Given the description of an element on the screen output the (x, y) to click on. 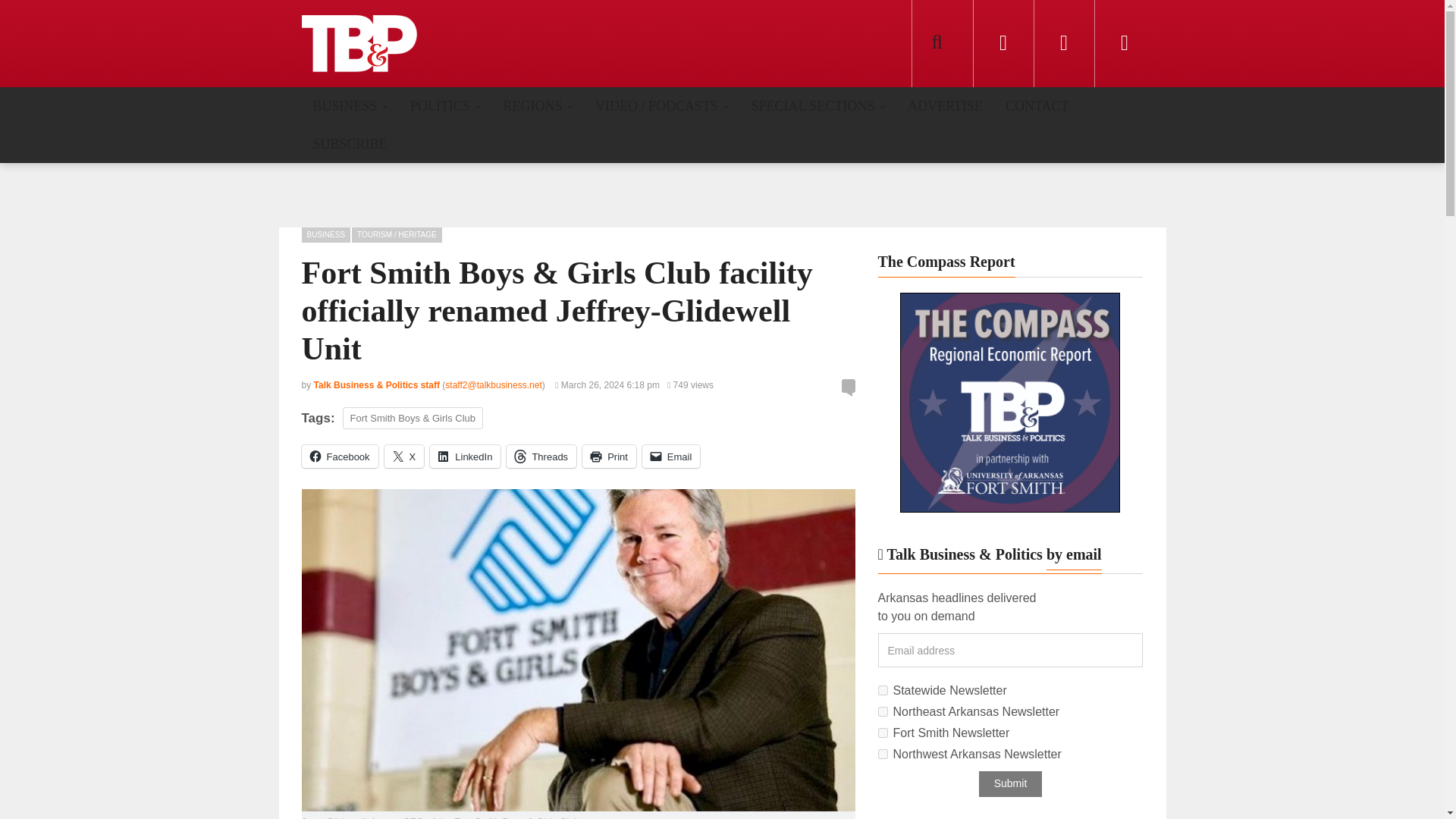
a8cb0d3206 (882, 690)
Click to share on LinkedIn (464, 456)
bfd07a2f6a (882, 732)
BUSINESS (349, 105)
536baa6e11 (882, 754)
Click to email a link to a friend (671, 456)
Click to share on X (404, 456)
Click to print (609, 456)
Click to share on Facebook (339, 456)
Click to share on Threads (541, 456)
